Given the description of an element on the screen output the (x, y) to click on. 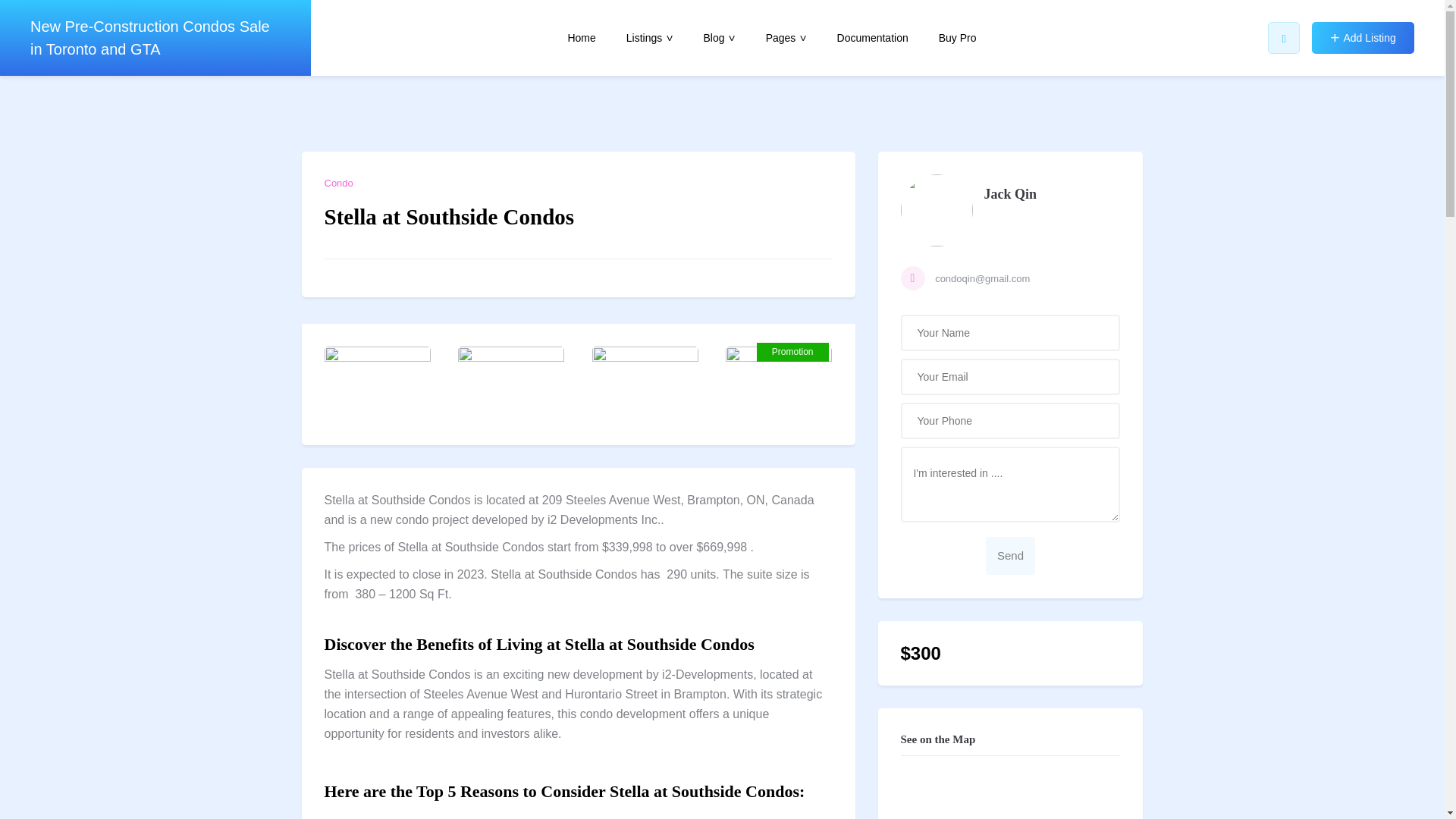
New Pre-Construction Condos Sale in Toronto and GTA (153, 37)
Home (581, 37)
Email (1011, 279)
Listings (649, 37)
